Given the description of an element on the screen output the (x, y) to click on. 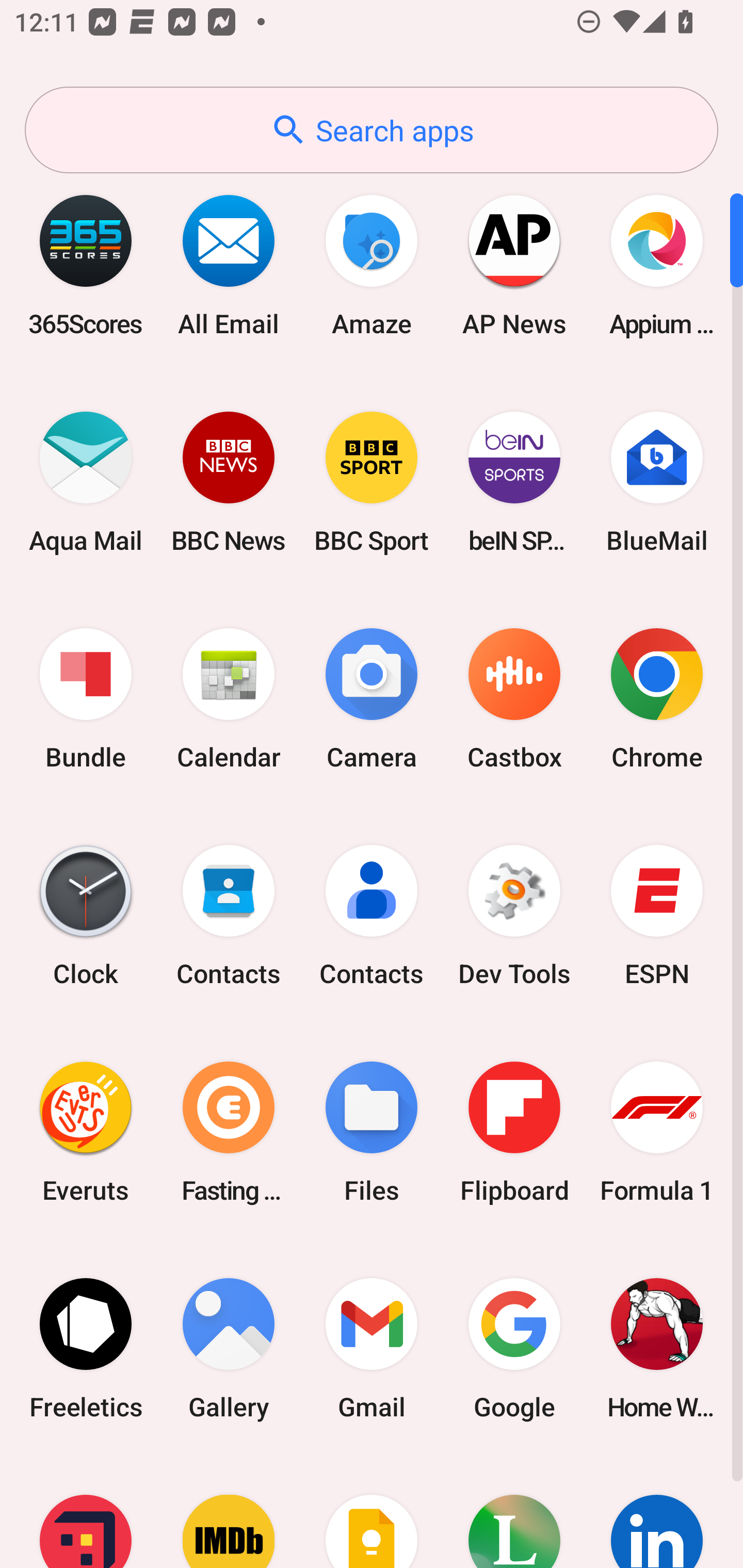
  Search apps (371, 130)
365Scores (85, 264)
All Email (228, 264)
Amaze (371, 264)
AP News (514, 264)
Appium Settings (656, 264)
Aqua Mail (85, 482)
BBC News (228, 482)
BBC Sport (371, 482)
beIN SPORTS (514, 482)
BlueMail (656, 482)
Bundle (85, 699)
Calendar (228, 699)
Camera (371, 699)
Castbox (514, 699)
Chrome (656, 699)
Clock (85, 915)
Contacts (228, 915)
Contacts (371, 915)
Dev Tools (514, 915)
ESPN (656, 915)
Everuts (85, 1131)
Fasting Coach (228, 1131)
Files (371, 1131)
Flipboard (514, 1131)
Formula 1 (656, 1131)
Freeletics (85, 1348)
Gallery (228, 1348)
Gmail (371, 1348)
Google (514, 1348)
Home Workout (656, 1348)
Hotels.com (85, 1512)
IMDb (228, 1512)
Keep Notes (371, 1512)
Lifesum (514, 1512)
LinkedIn (656, 1512)
